Given the description of an element on the screen output the (x, y) to click on. 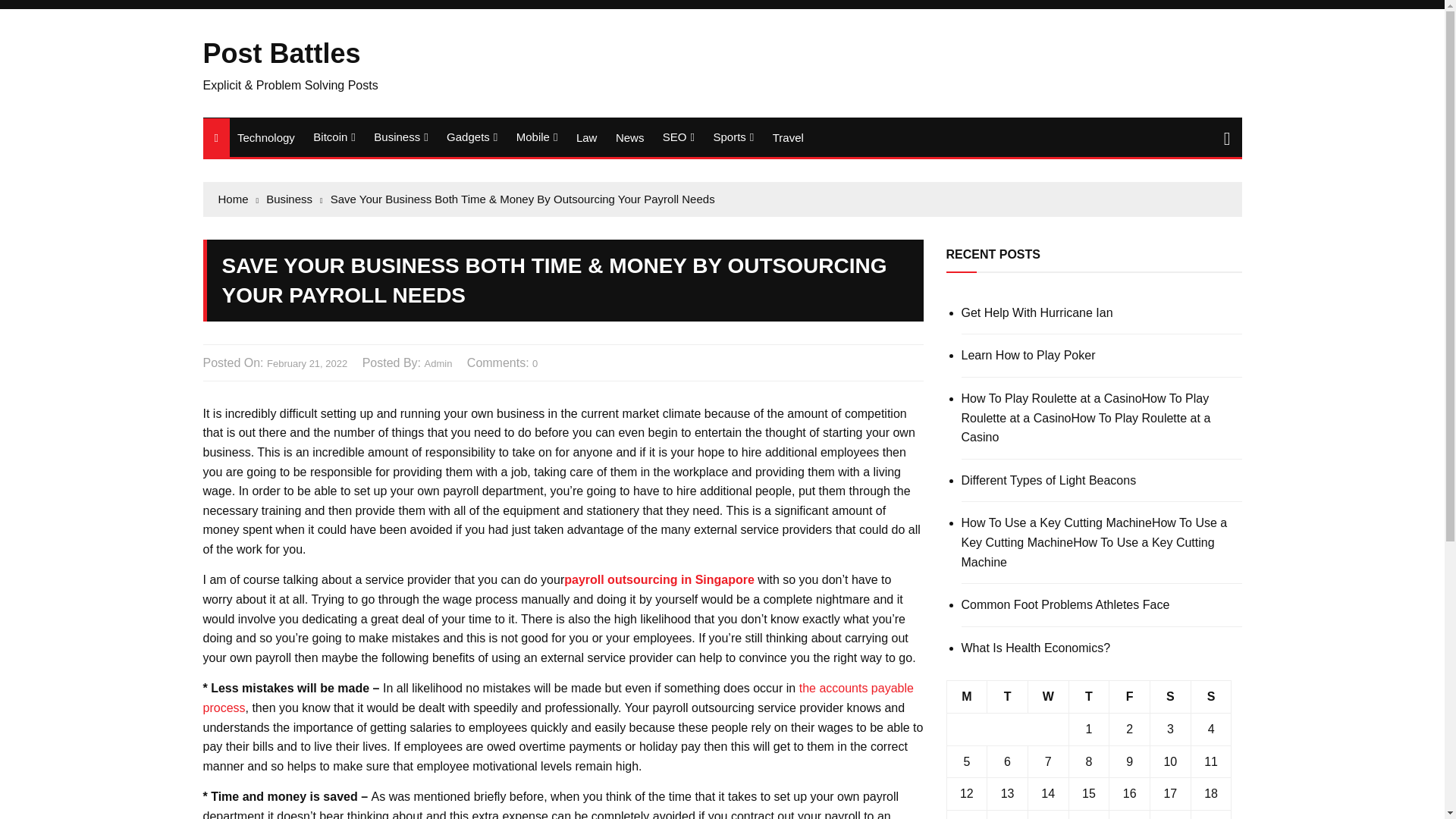
Post Battles (282, 52)
Wednesday (1047, 696)
Tuesday (1007, 696)
Sports (732, 137)
Technology (266, 137)
Saturday (1170, 696)
Travel (787, 137)
Law (587, 137)
Mobile (537, 137)
Monday (966, 696)
Sunday (1211, 696)
Business (400, 137)
SEO (678, 137)
Friday (1129, 696)
News (630, 137)
